Given the description of an element on the screen output the (x, y) to click on. 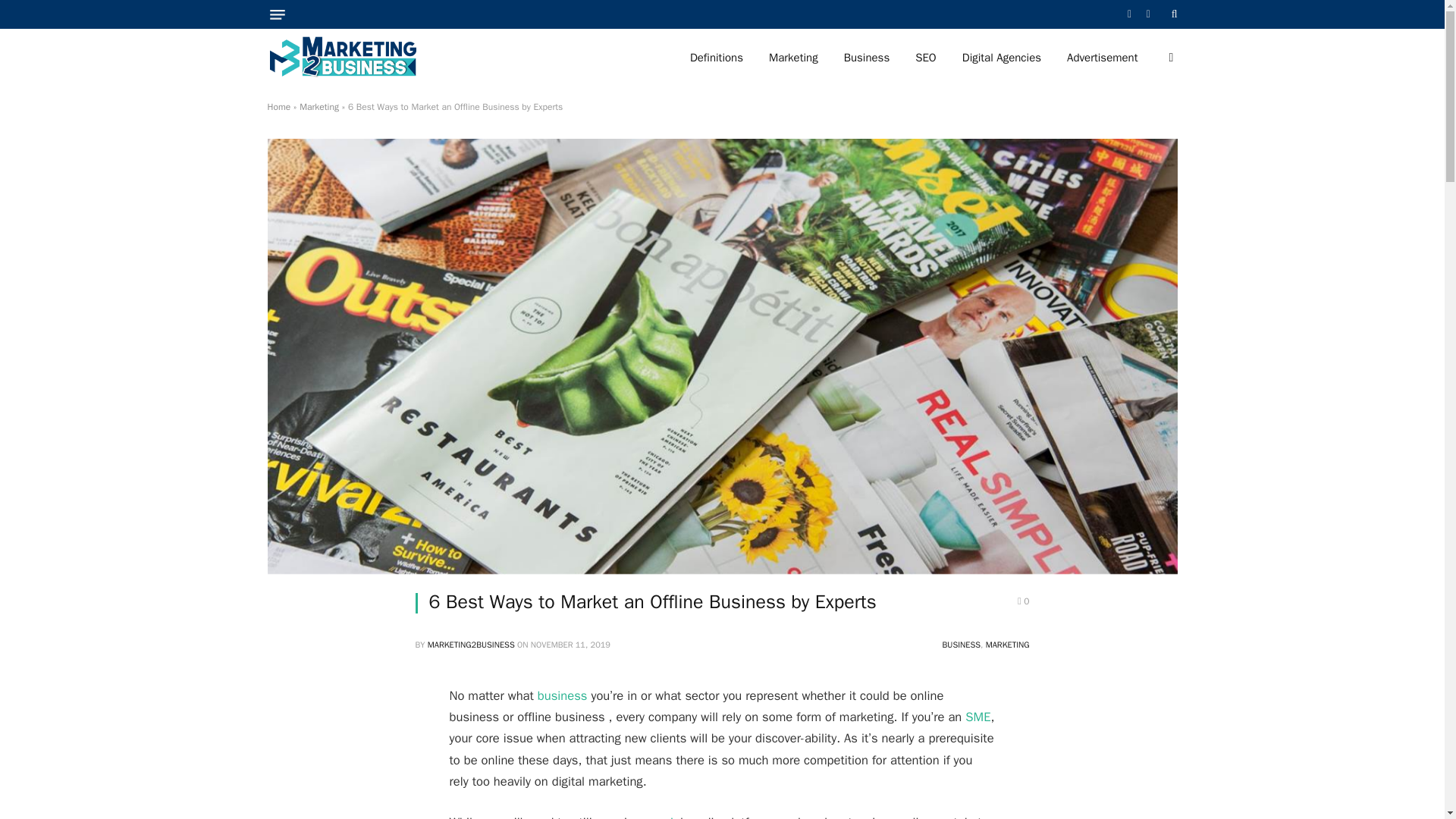
BUSINESS (961, 644)
Marketing2Business (341, 57)
Business (866, 57)
Switch to Dark Design - easier on eyes. (1168, 57)
Posts by marketing2business (471, 644)
Advertisement (1102, 57)
socia (664, 816)
2019-11-11 (570, 644)
SME (977, 716)
Home (277, 106)
MARKETING (1007, 644)
business (562, 695)
Marketing (319, 106)
Marketing (793, 57)
